Given the description of an element on the screen output the (x, y) to click on. 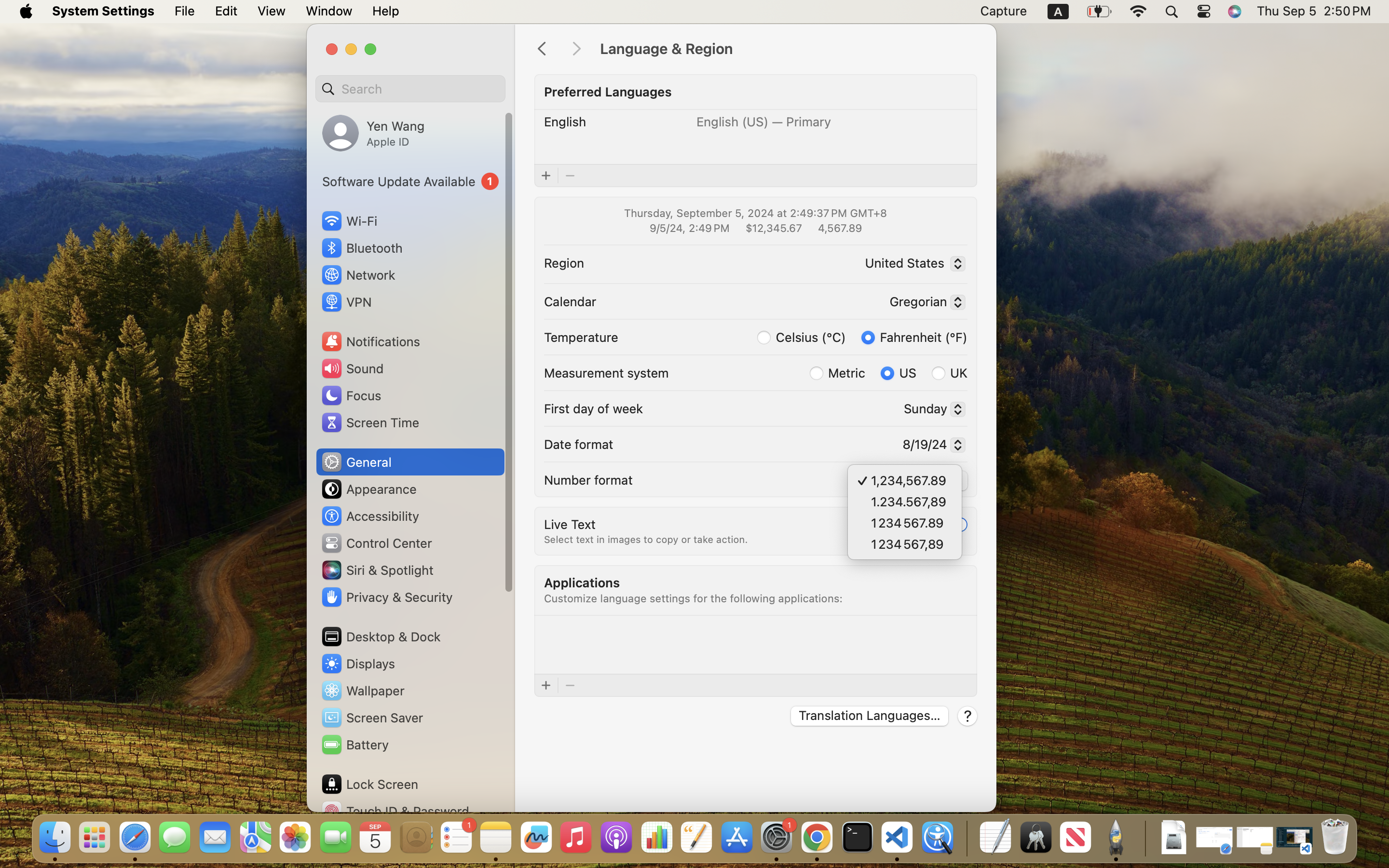
9/5/24, 2:49 PM Element type: AXStaticText (689, 227)
Select text in images to copy or take action. Element type: AXStaticText (646, 539)
English Element type: AXStaticText (565, 121)
1 Element type: AXCheckBox (954, 523)
1,234,567.89 Element type: AXPopUpButton (914, 481)
